Given the description of an element on the screen output the (x, y) to click on. 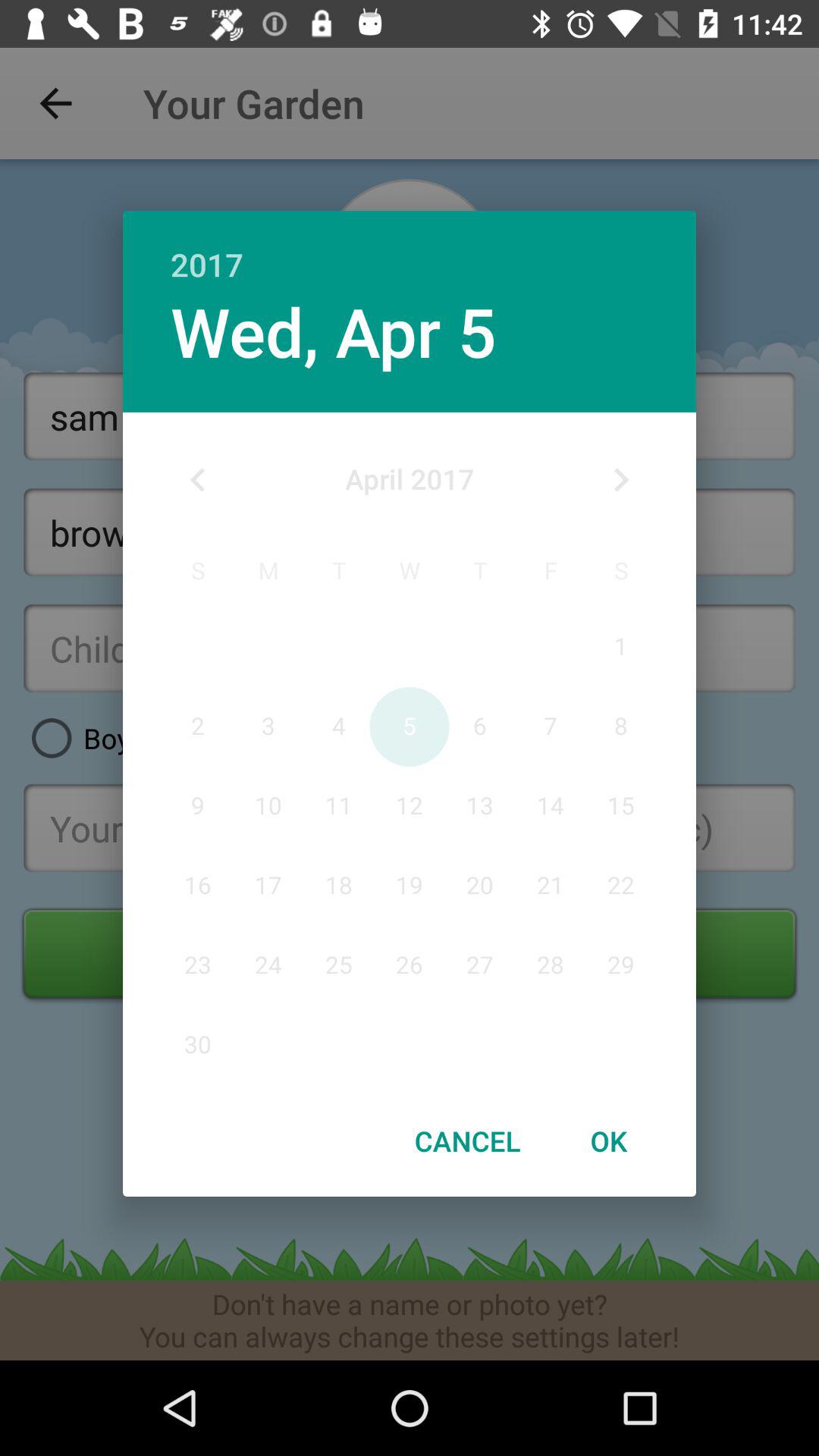
click the item above the ok item (620, 479)
